Given the description of an element on the screen output the (x, y) to click on. 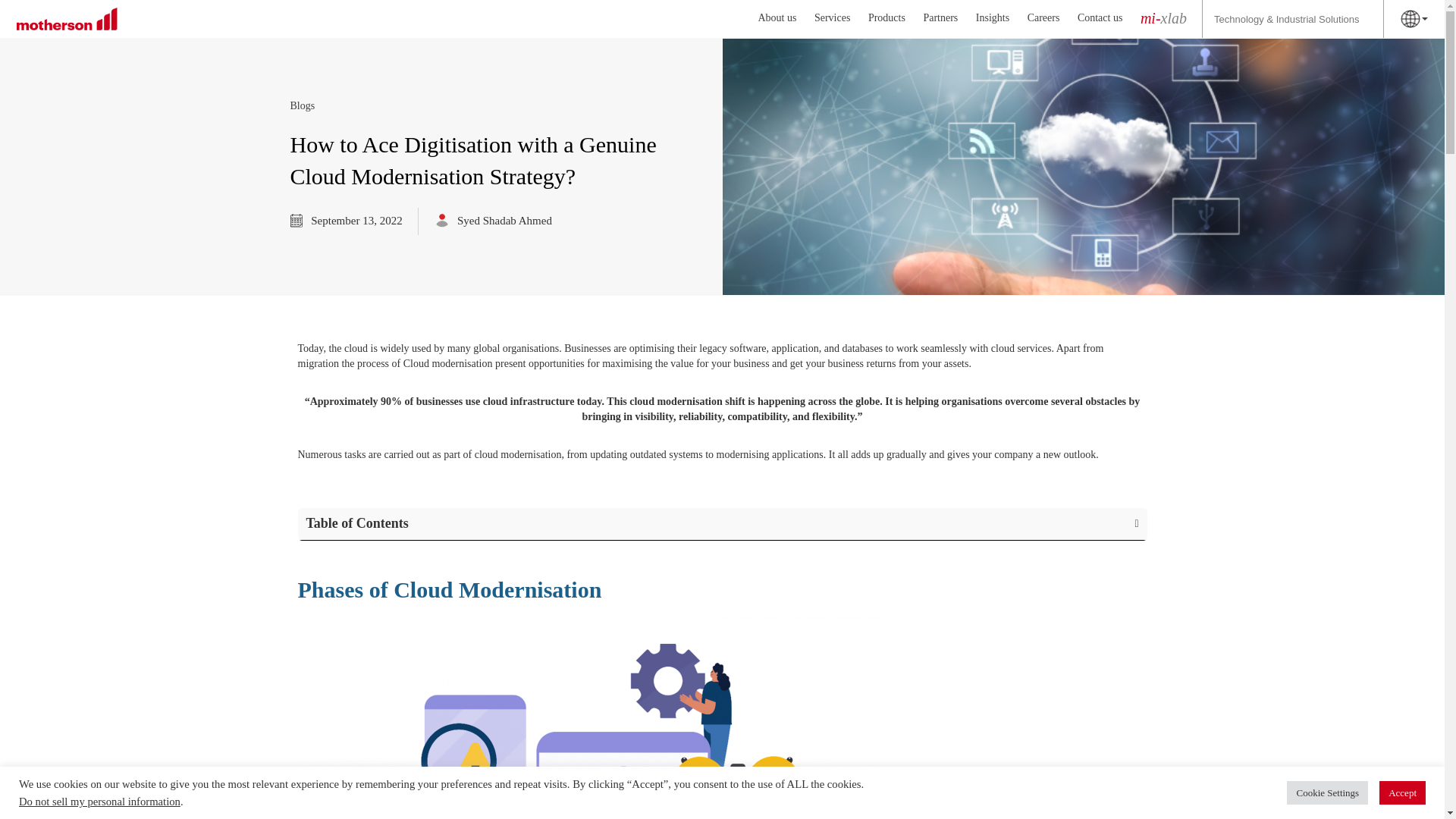
Contact us (1099, 17)
Products (886, 17)
Insights (992, 17)
Blogs (301, 105)
Partners (940, 17)
Services (831, 17)
Careers (1043, 17)
About us (777, 17)
mi-xlab (1163, 19)
